Given the description of an element on the screen output the (x, y) to click on. 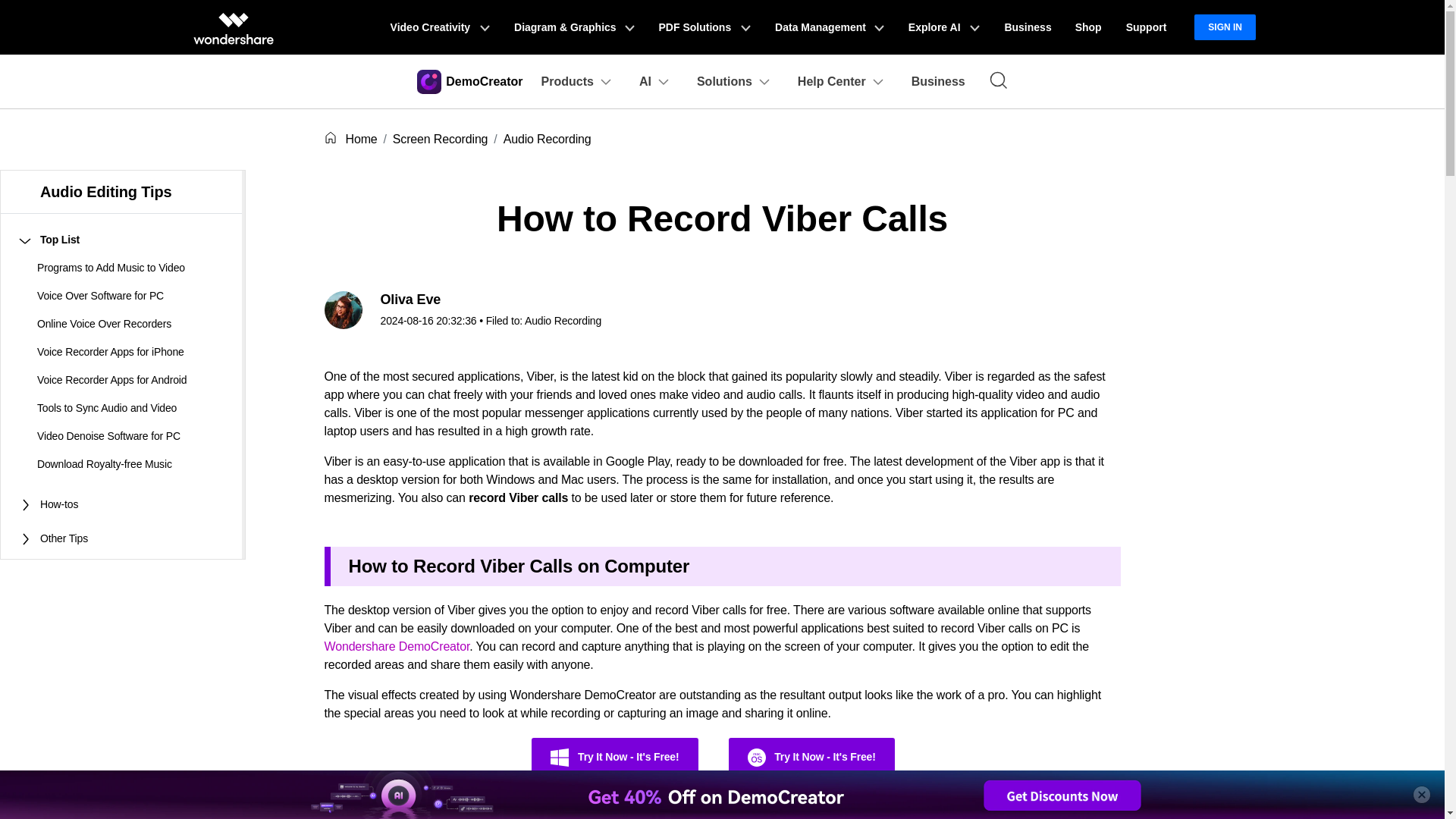
Data Management (829, 27)
Business (1026, 27)
PDF Solutions (704, 27)
Explore AI (943, 27)
Video Creativity (439, 27)
